Given the description of an element on the screen output the (x, y) to click on. 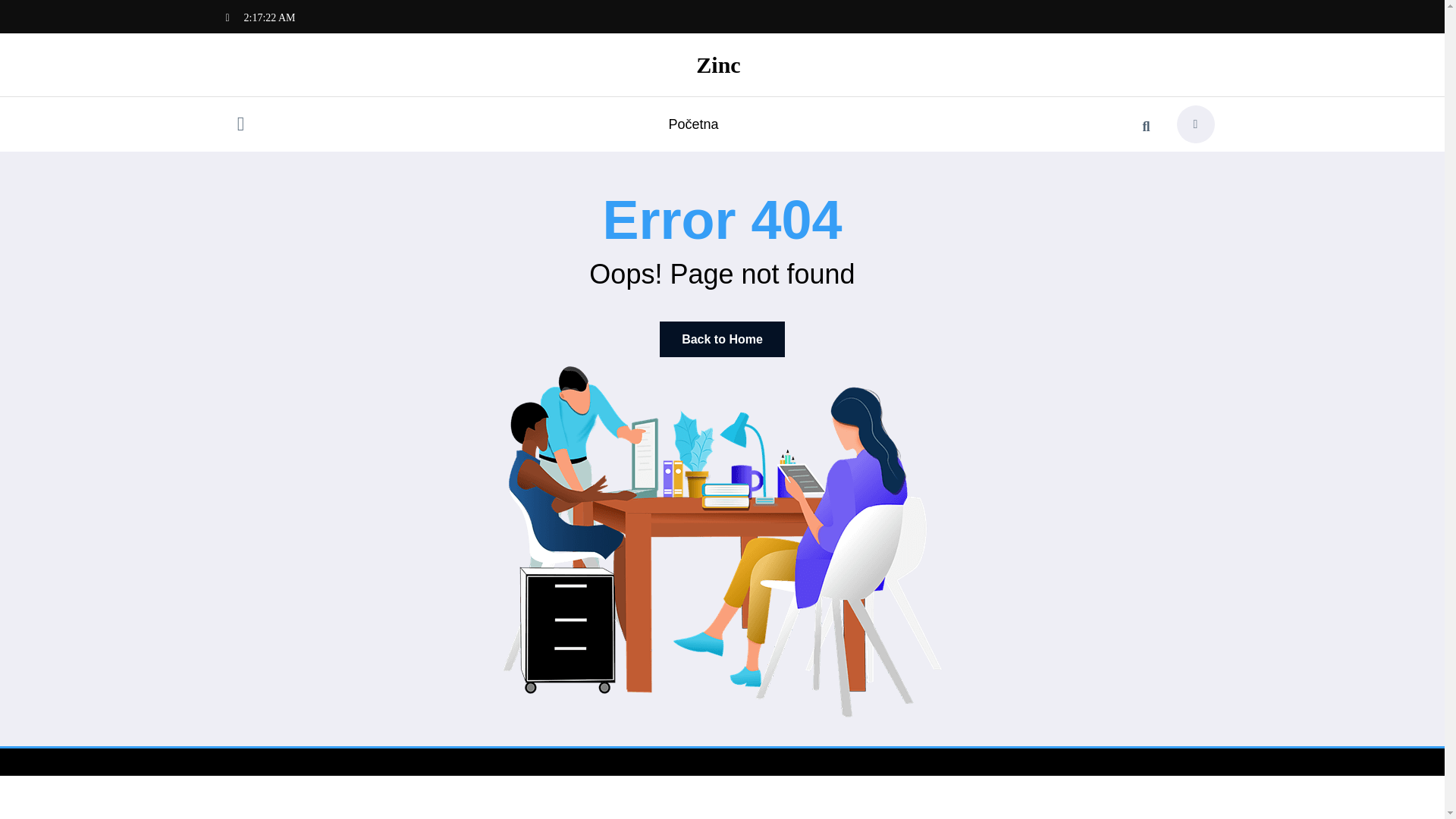
Pretraga (1145, 126)
Prebaci ikonica (239, 125)
Zinc (717, 64)
Back to Home (721, 339)
Back to Home (721, 339)
Zinc (717, 64)
